Given the description of an element on the screen output the (x, y) to click on. 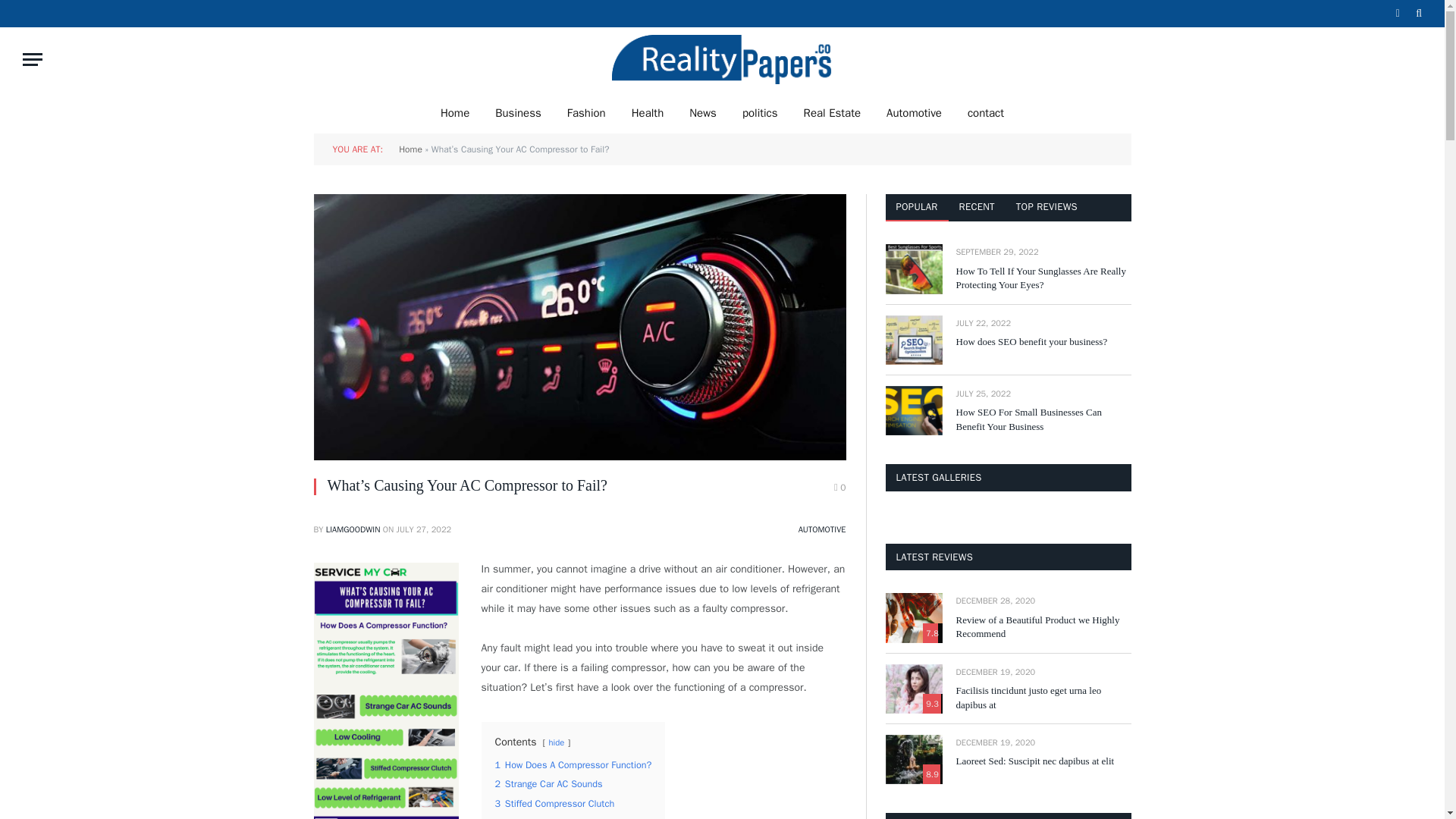
AUTOMOTIVE (821, 529)
LIAMGOODWIN (353, 529)
News (703, 112)
Home (410, 149)
1 How Does A Compressor Function? (572, 765)
Health (647, 112)
Home (454, 112)
3 Stiffed Compressor Clutch (554, 803)
Real Estate (831, 112)
Automotive (914, 112)
Fashion (586, 112)
Reality Papers (721, 59)
Switch to Dark Design - easier on eyes. (1397, 13)
hide (556, 742)
politics (759, 112)
